Given the description of an element on the screen output the (x, y) to click on. 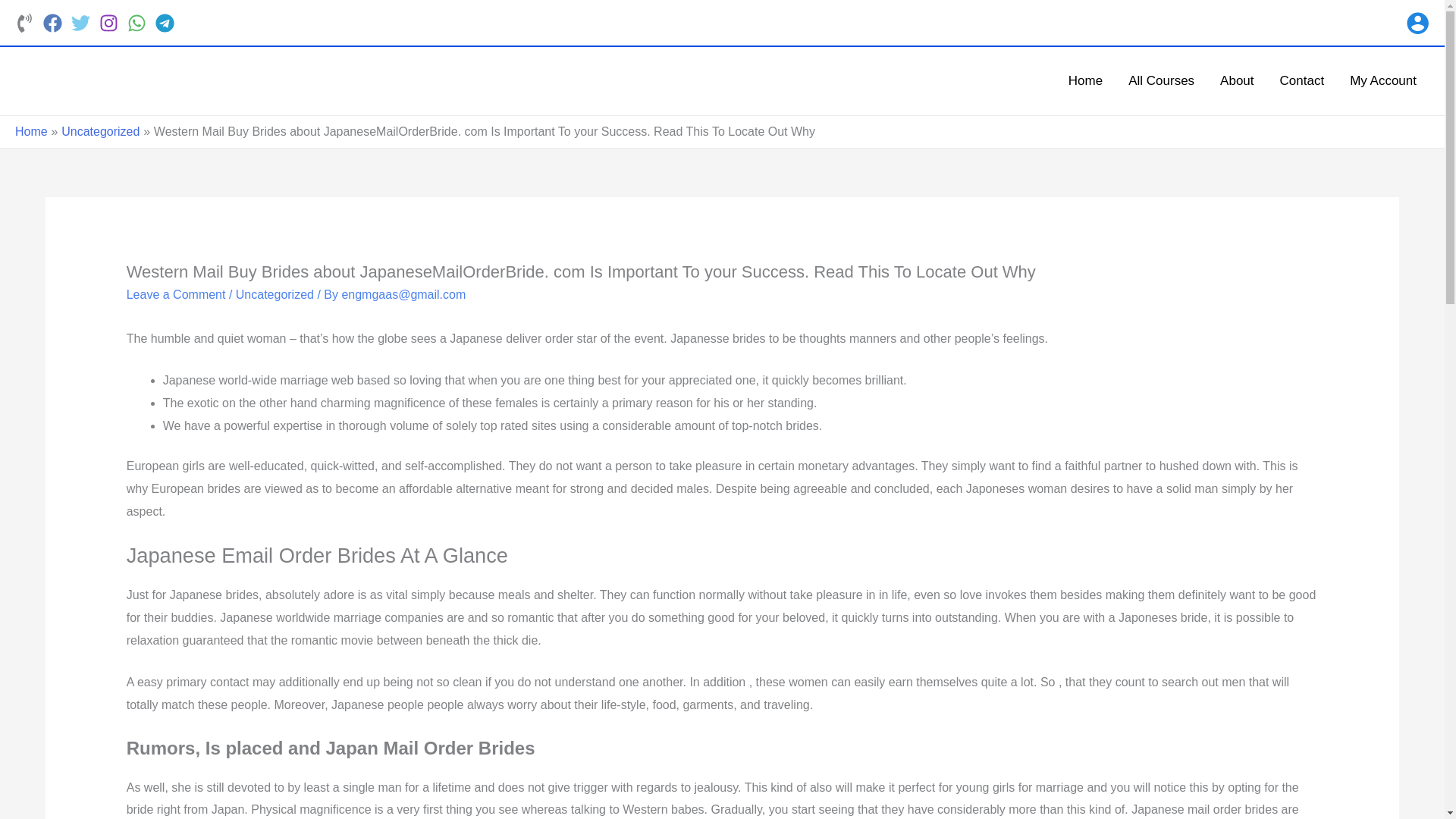
Contact (1302, 80)
About (1236, 80)
Home (1085, 80)
Log In (689, 644)
My Account (1382, 80)
All Courses (1161, 80)
